Given the description of an element on the screen output the (x, y) to click on. 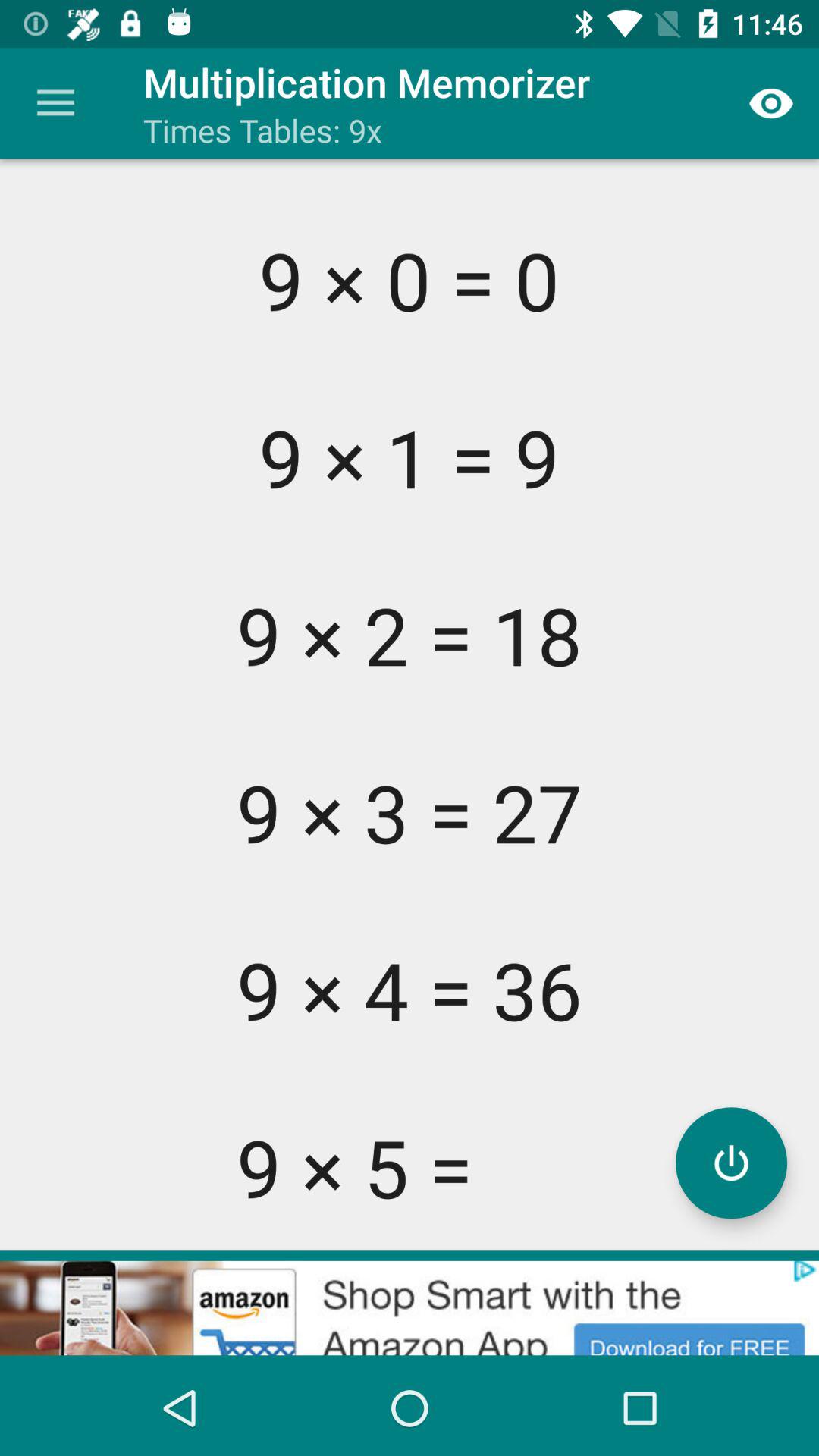
stop (731, 1162)
